Given the description of an element on the screen output the (x, y) to click on. 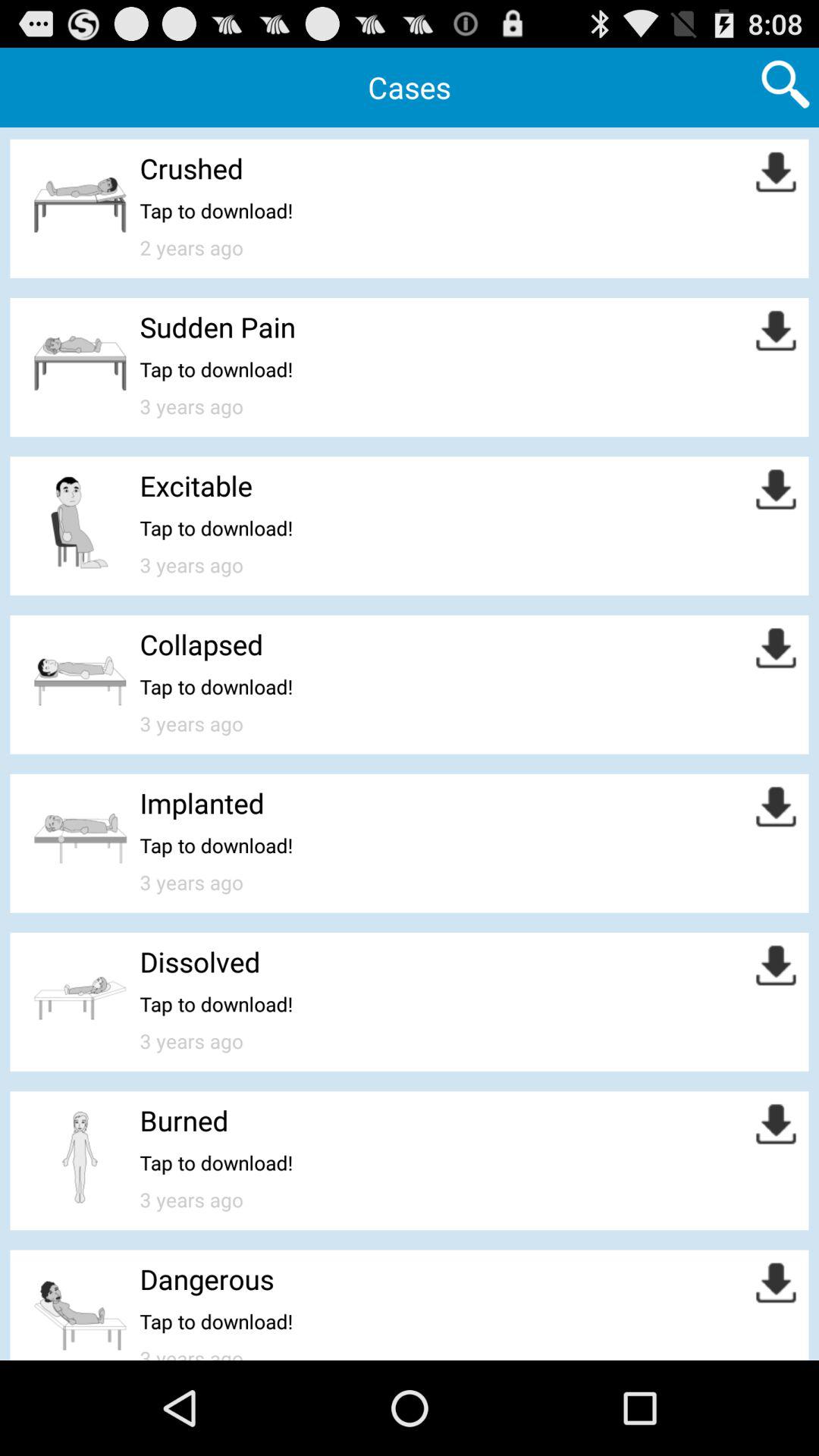
tap app above tap to download! app (201, 802)
